Given the description of an element on the screen output the (x, y) to click on. 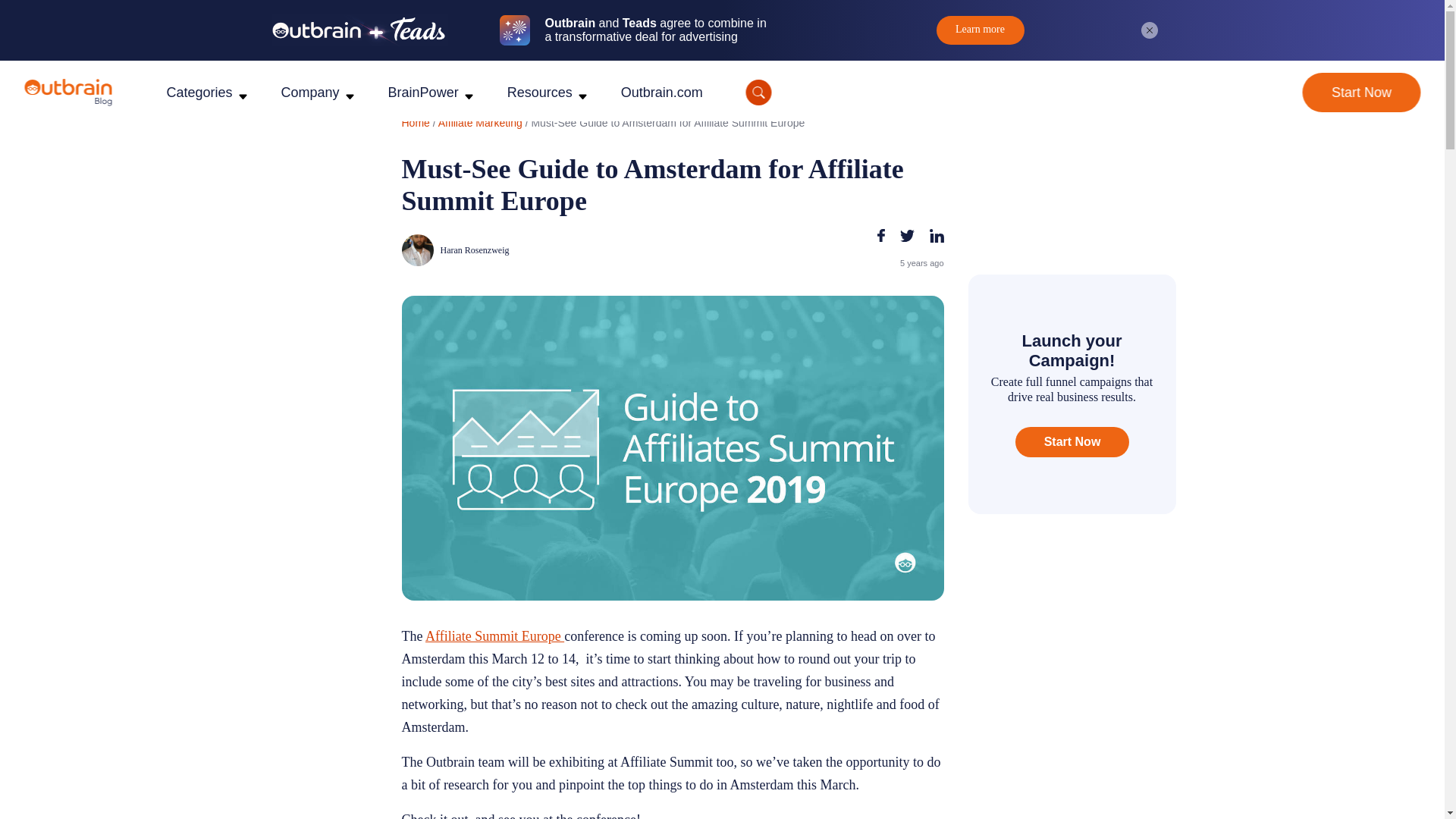
Categories (199, 92)
Learn more (979, 30)
Haran Rosenzweig (534, 250)
